Given the description of an element on the screen output the (x, y) to click on. 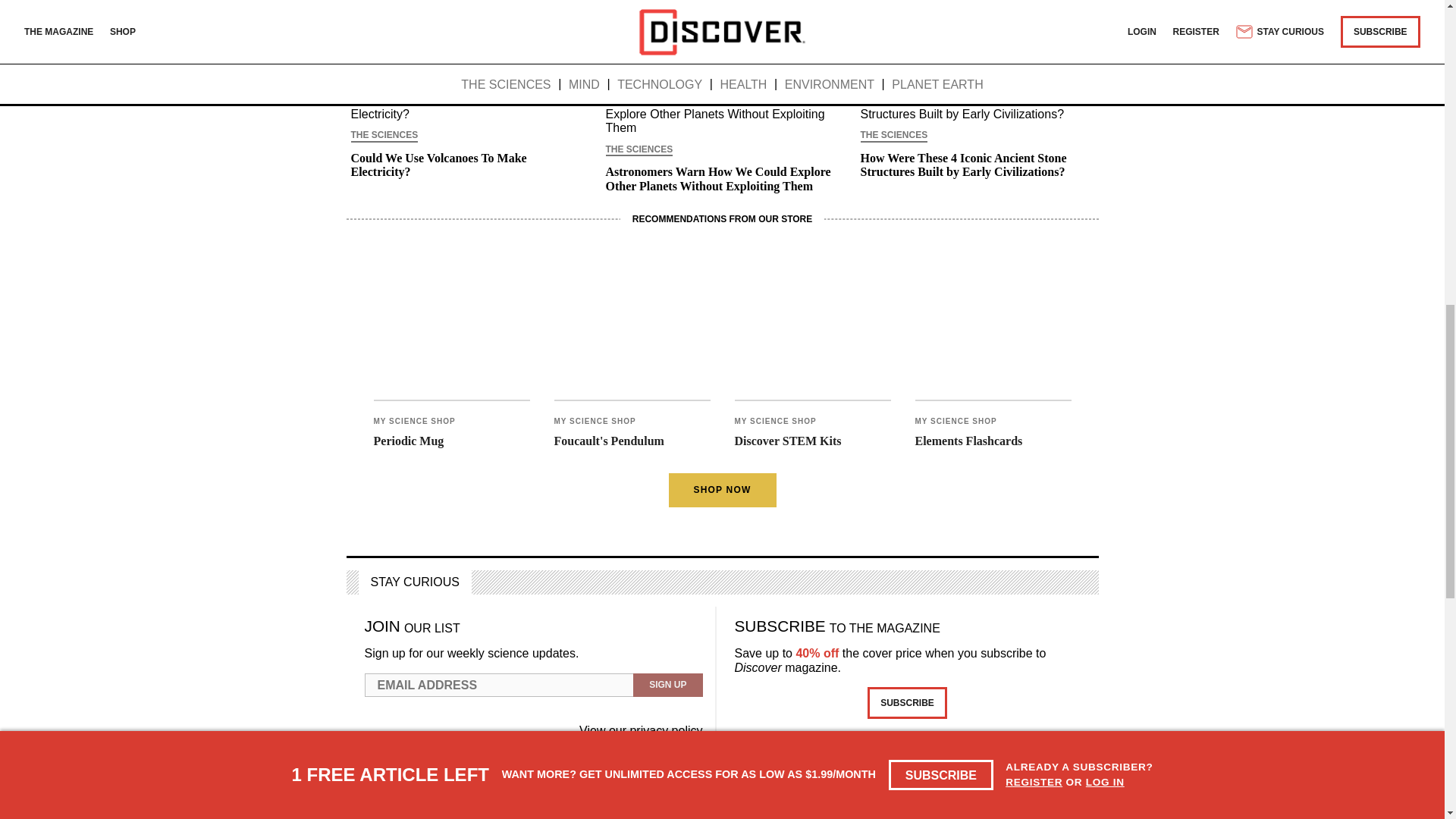
Could We Use Volcanoes To Make Electricity? (466, 165)
three days (504, 25)
THE SCIENCES (383, 136)
